Given the description of an element on the screen output the (x, y) to click on. 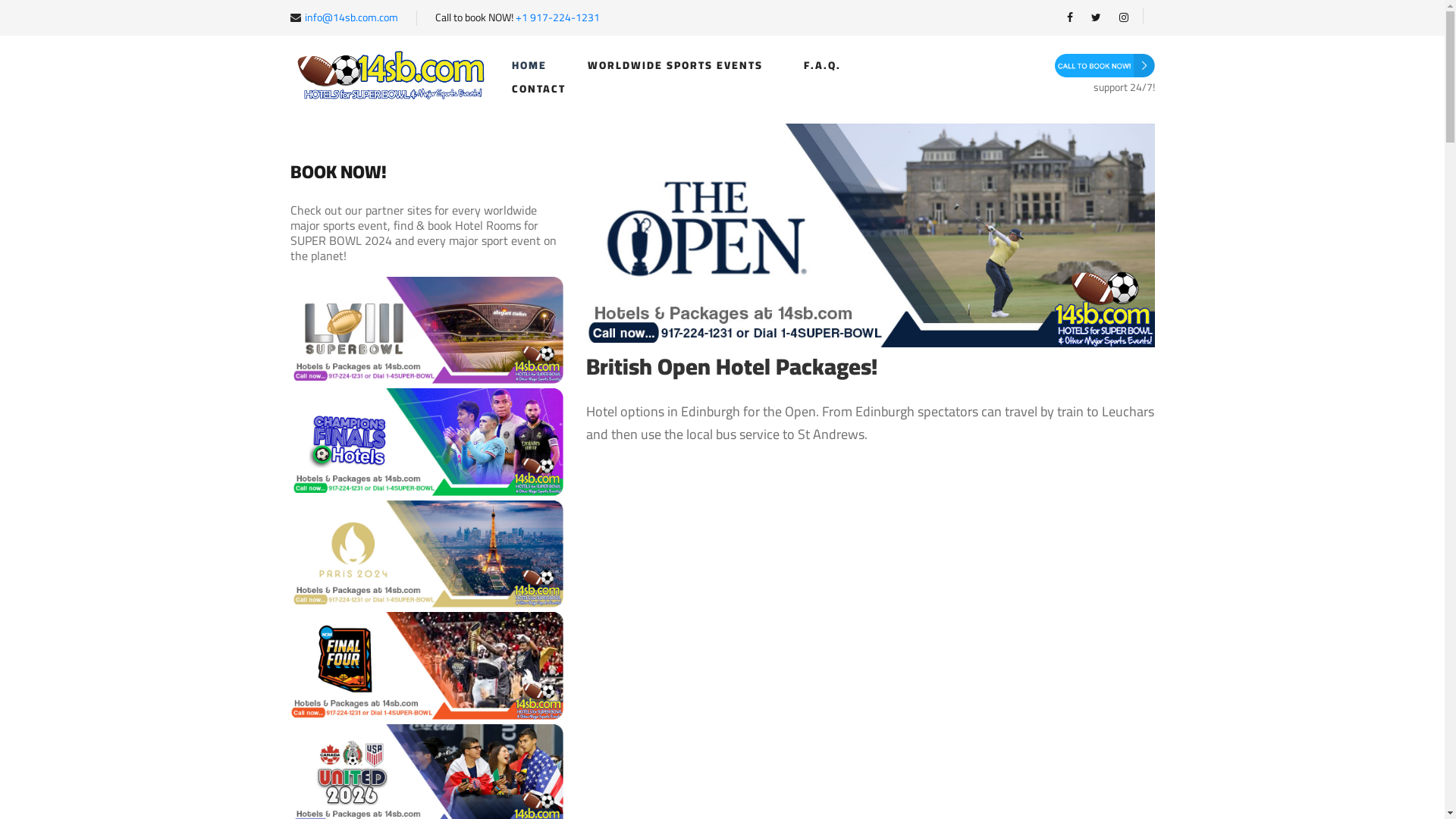
Book hotels for British Open - BOOK IT NOW & Click here! Element type: hover (869, 235)
info@14sb.com.com Element type: text (351, 17)
+1 917-224-1231 Element type: text (557, 17)
CONTACT Element type: text (538, 88)
HOME Element type: text (528, 65)
F.A.Q. Element type: text (821, 65)
WORLDWIDE SPORTS EVENTS Element type: text (674, 65)
